Given the description of an element on the screen output the (x, y) to click on. 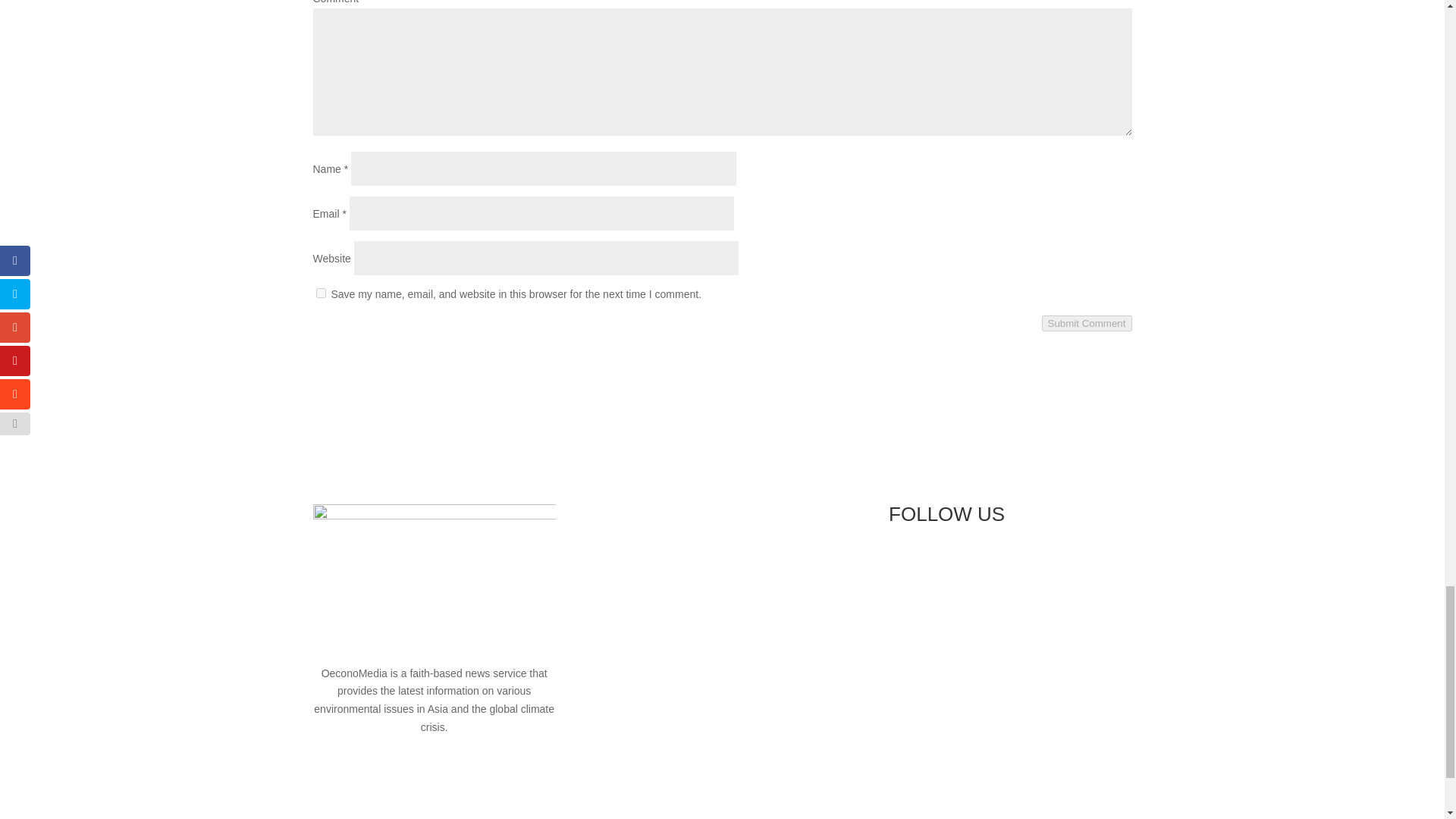
Follow on RSS (991, 566)
yes (319, 293)
Submit Comment (1087, 323)
Follow on Facebook (900, 566)
Follow on Twitter (930, 566)
Follow on Instagram (961, 566)
